Given the description of an element on the screen output the (x, y) to click on. 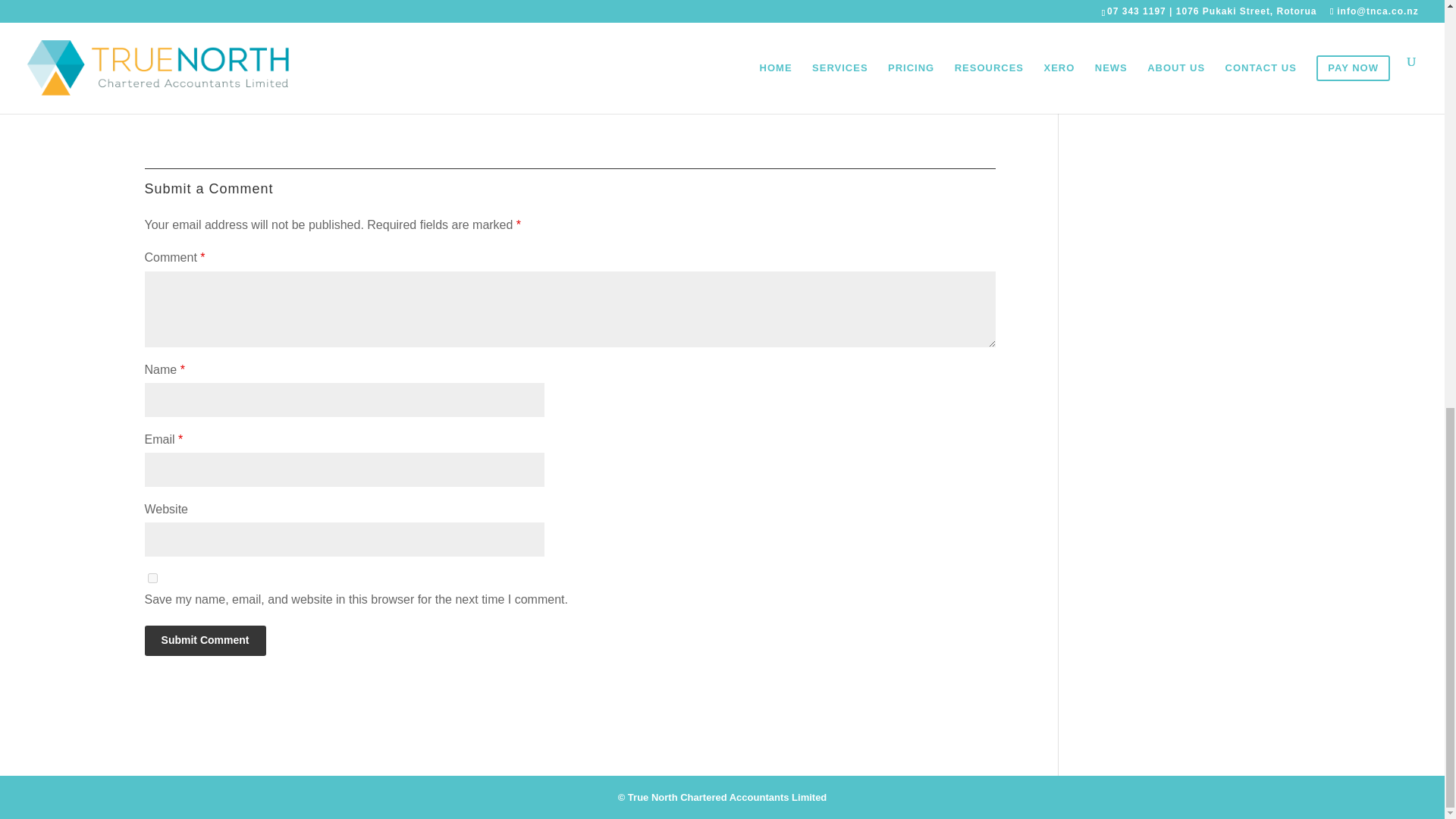
Submit Comment (204, 640)
yes (152, 578)
Submit Comment (204, 640)
